Given the description of an element on the screen output the (x, y) to click on. 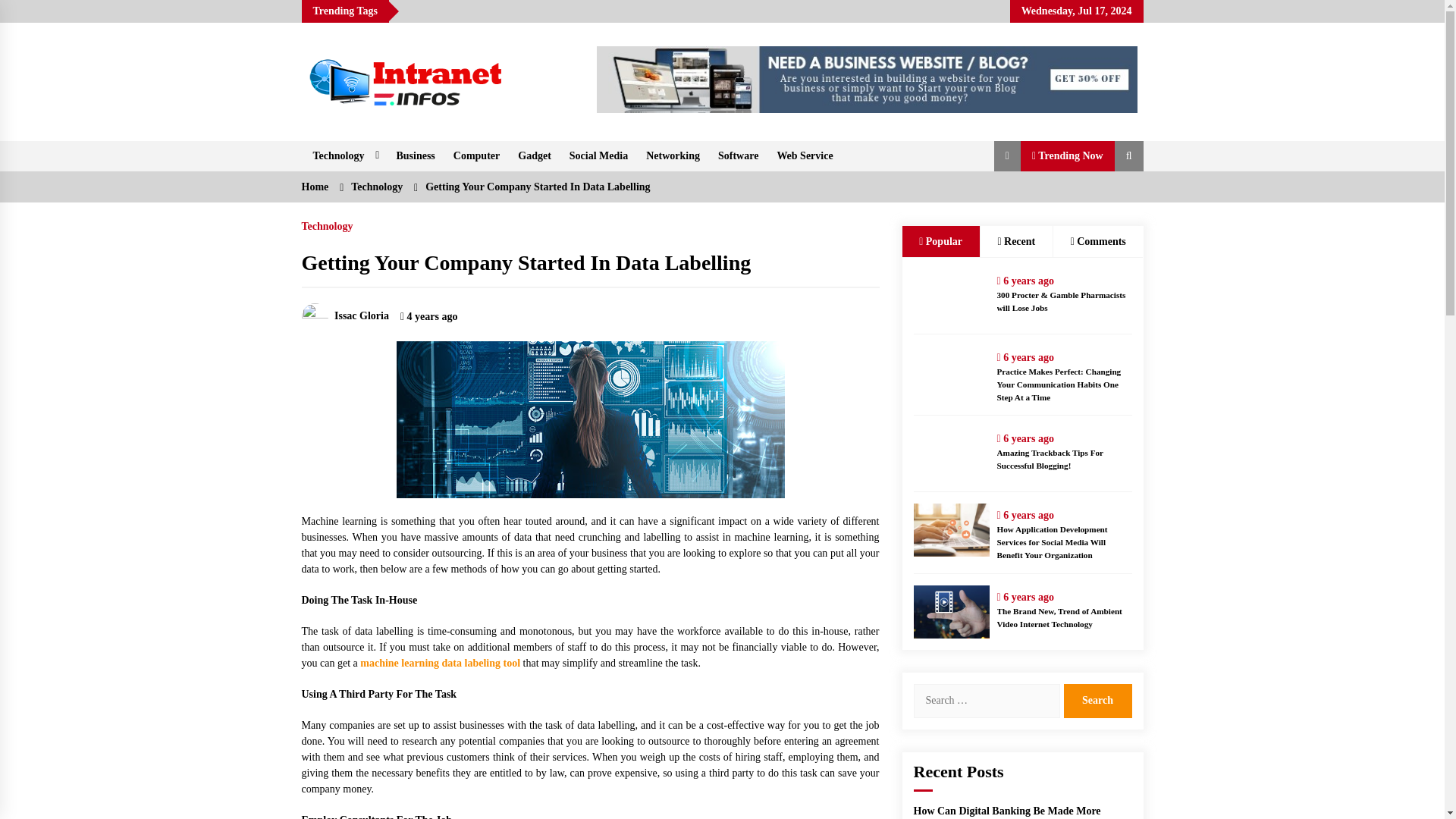
Technology (376, 186)
Computer (476, 155)
Web Service (804, 155)
Social Media (598, 155)
Networking (673, 155)
Gadget (534, 155)
Software (738, 155)
Search (1096, 700)
Home (315, 186)
Search (1096, 700)
Business (415, 155)
Technology (344, 155)
